Given the description of an element on the screen output the (x, y) to click on. 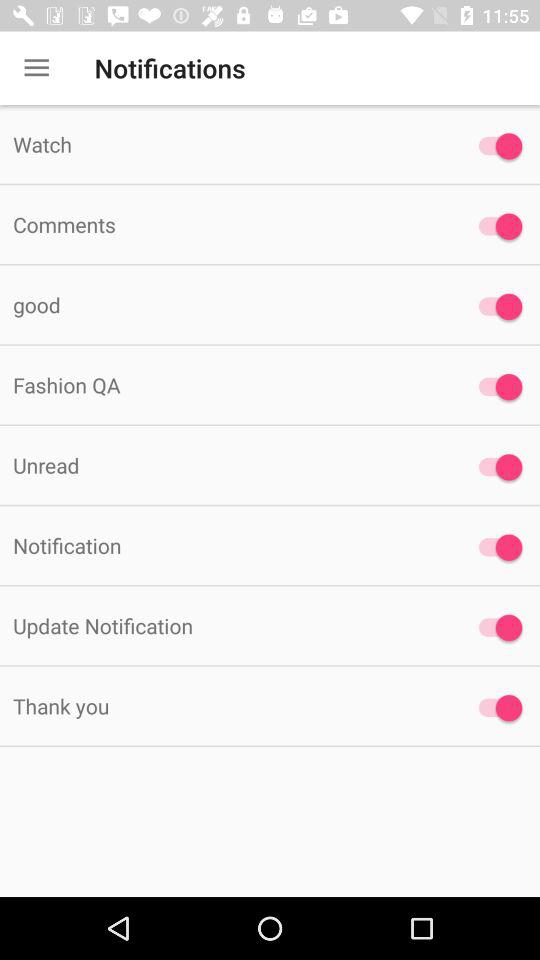
select/unselect notification (495, 306)
